Given the description of an element on the screen output the (x, y) to click on. 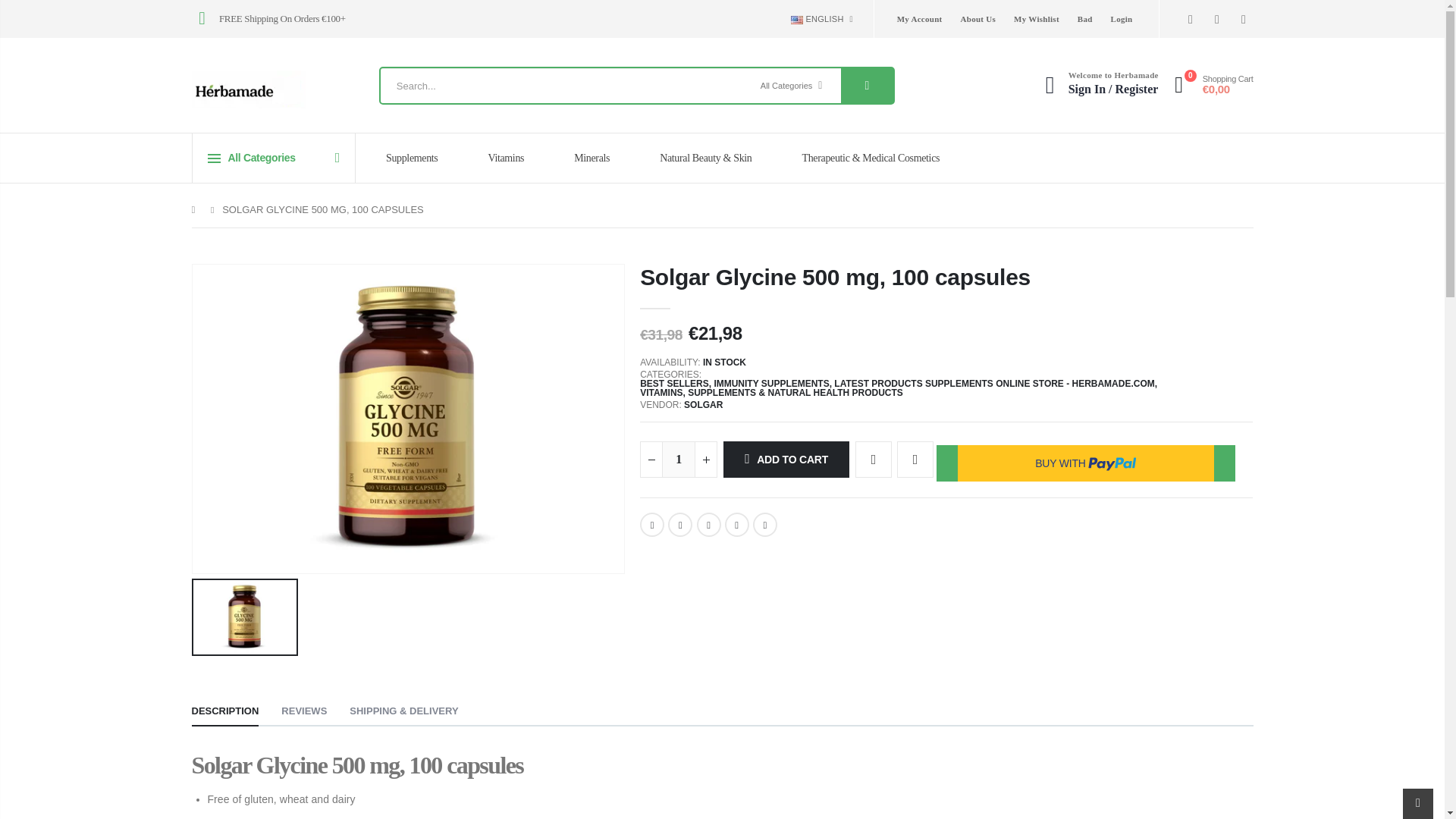
My Wishlist (1036, 18)
Solgar Glycine 500 mg, 100 capsules (708, 524)
de (821, 66)
1 (678, 459)
ENGLISH (821, 18)
Solgar Glycine 500 mg, 100 capsules (651, 524)
All Categories (795, 85)
My Account (919, 18)
Add to wishlist (873, 459)
Login (1121, 18)
About Us (977, 18)
Solgar Glycine 500 mg, 100 capsules (737, 524)
All Categories (795, 85)
Add to compare (914, 459)
Solgar Glycine 500 mg, 100 capsules (764, 524)
